Given the description of an element on the screen output the (x, y) to click on. 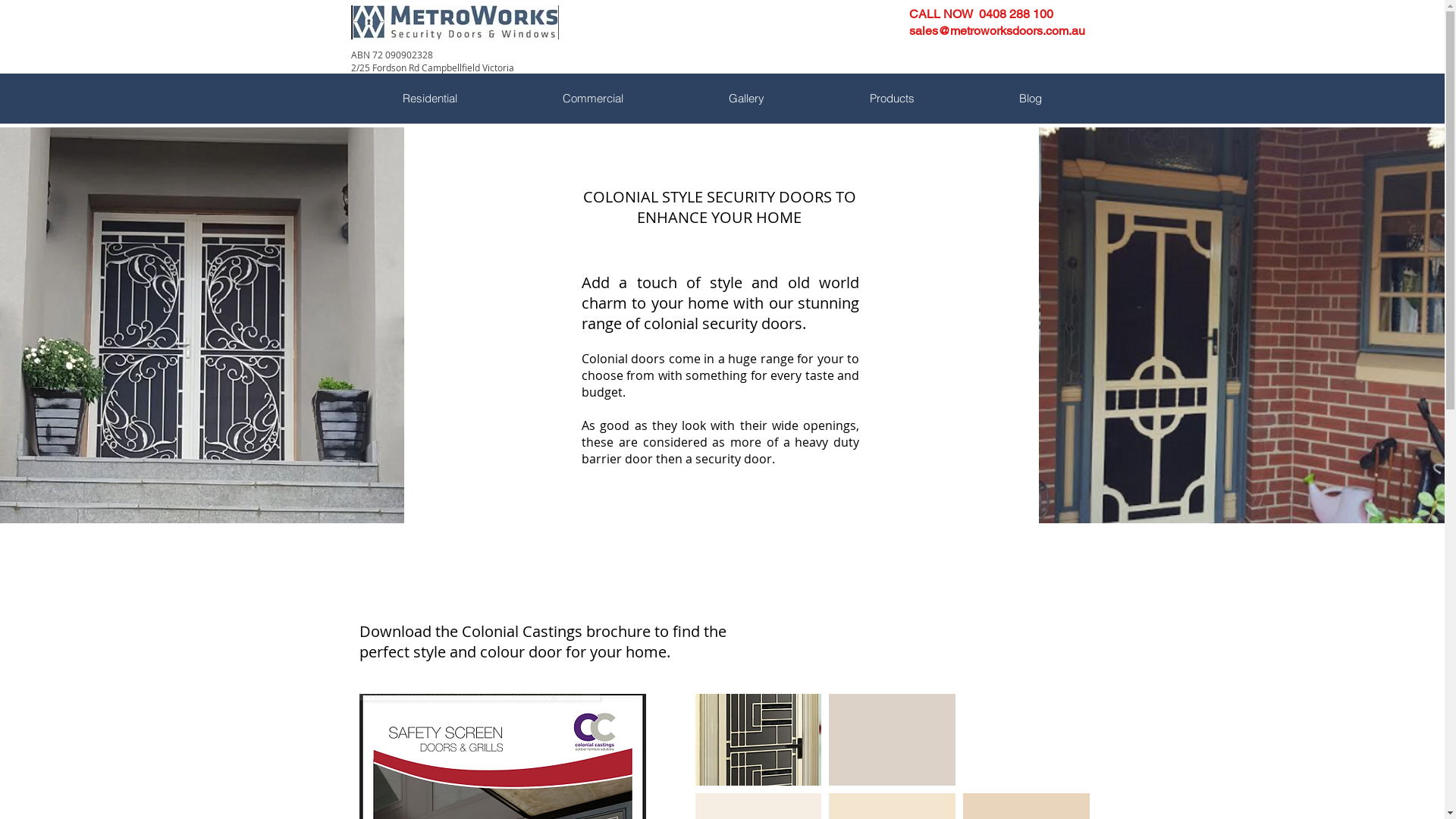
Residential Element type: text (429, 98)
sales@metroworksdoors.com.au Element type: text (996, 30)
CALL NOW  0408 288 100 Element type: text (980, 13)
Blog Element type: text (1029, 98)
Commercial Element type: text (592, 98)
Gallery Element type: text (744, 98)
